Given the description of an element on the screen output the (x, y) to click on. 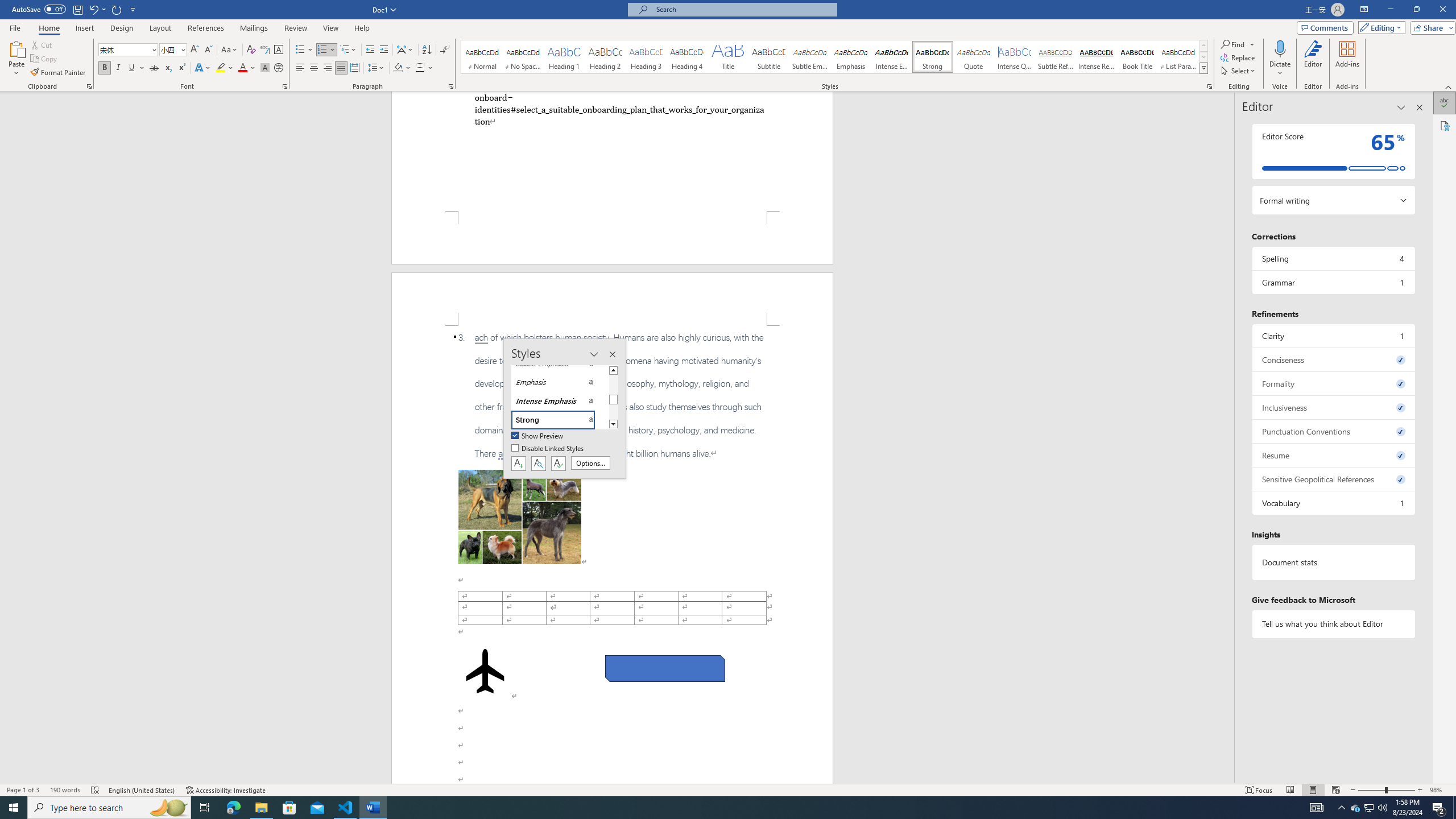
Options... (590, 463)
Repeat Style (117, 9)
